Given the description of an element on the screen output the (x, y) to click on. 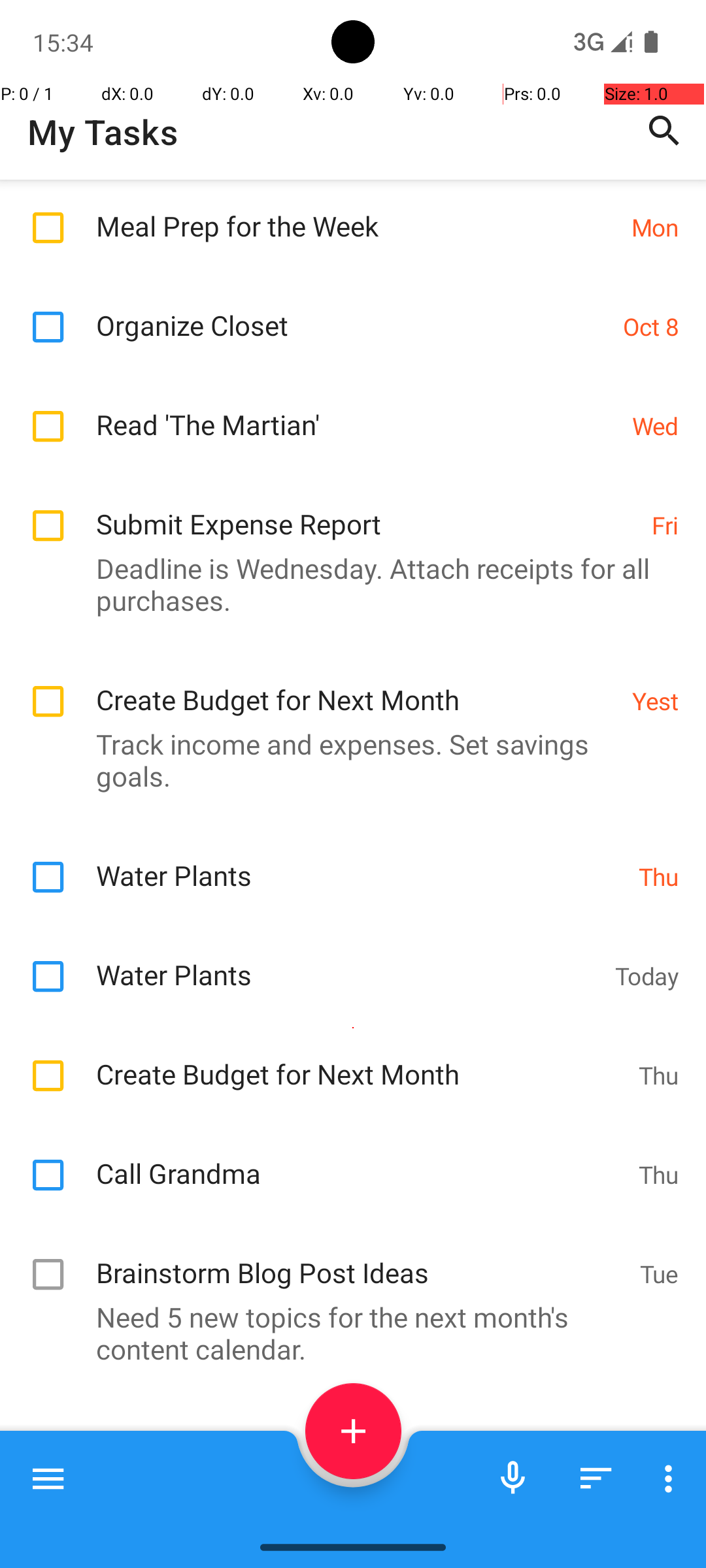
Organize Closet Element type: android.widget.TextView (352, 310)
Oct 8 Element type: android.widget.TextView (650, 325)
Read 'The Martian' Element type: android.widget.TextView (357, 410)
Submit Expense Report Element type: android.widget.TextView (367, 509)
Deadline is Wednesday. Attach receipts for all purchases. Element type: android.widget.TextView (346, 583)
Create Budget for Next Month Element type: android.widget.TextView (357, 685)
Track income and expenses. Set savings goals. Element type: android.widget.TextView (346, 759)
Water Plants Element type: android.widget.TextView (360, 861)
Call Grandma Element type: android.widget.TextView (360, 1159)
Brainstorm Blog Post Ideas Element type: android.widget.TextView (361, 1258)
Need 5 new topics for the next month's content calendar. Element type: android.widget.TextView (346, 1332)
